Given the description of an element on the screen output the (x, y) to click on. 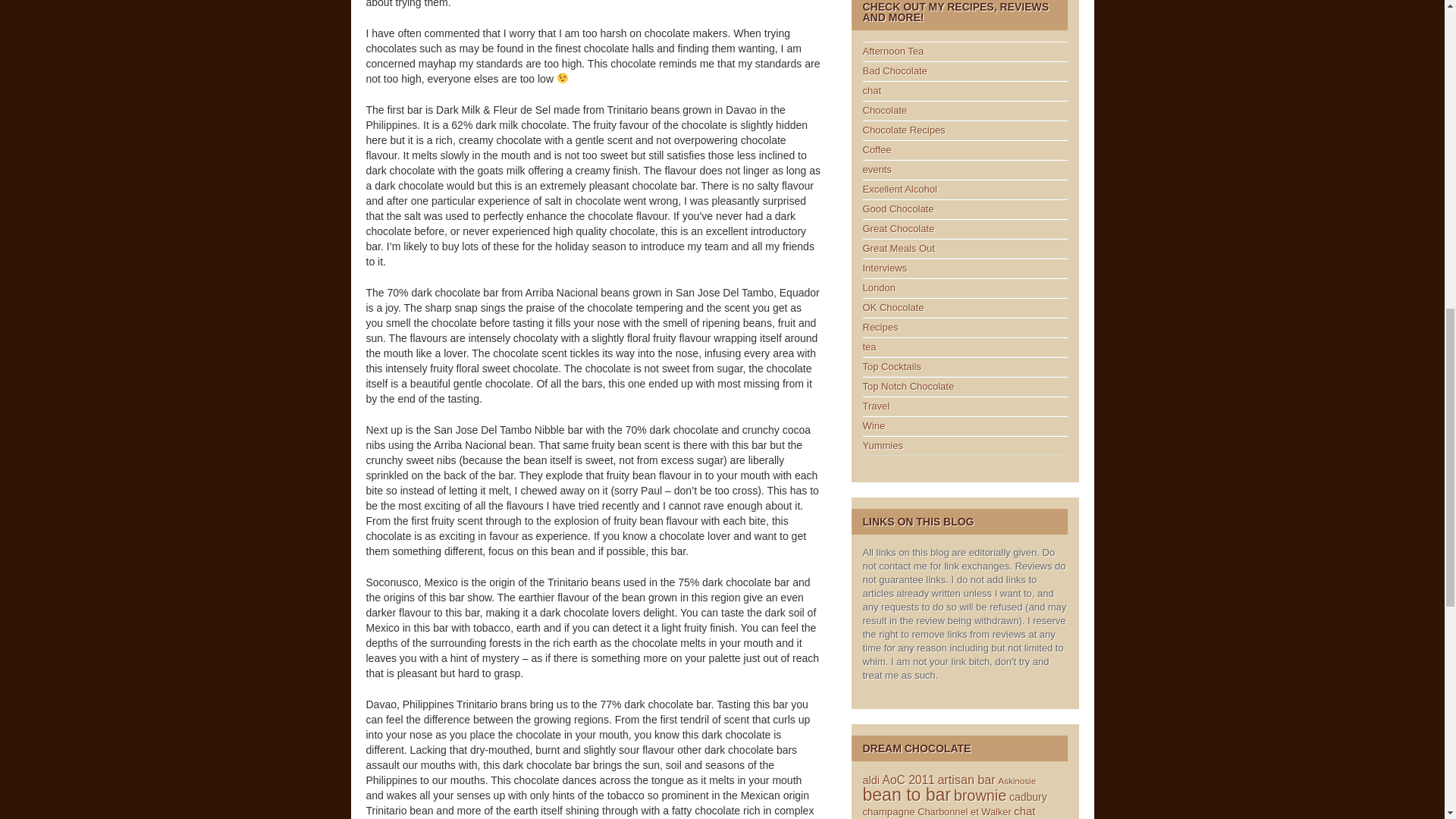
Afternoon Tea (893, 50)
Good Chocolate (898, 208)
Bad Chocolate (895, 70)
Coffee (877, 149)
events (877, 169)
Chocolate Recipes (903, 129)
Excellent Alcohol (900, 188)
chat (872, 90)
Chocolate (885, 110)
